Given the description of an element on the screen output the (x, y) to click on. 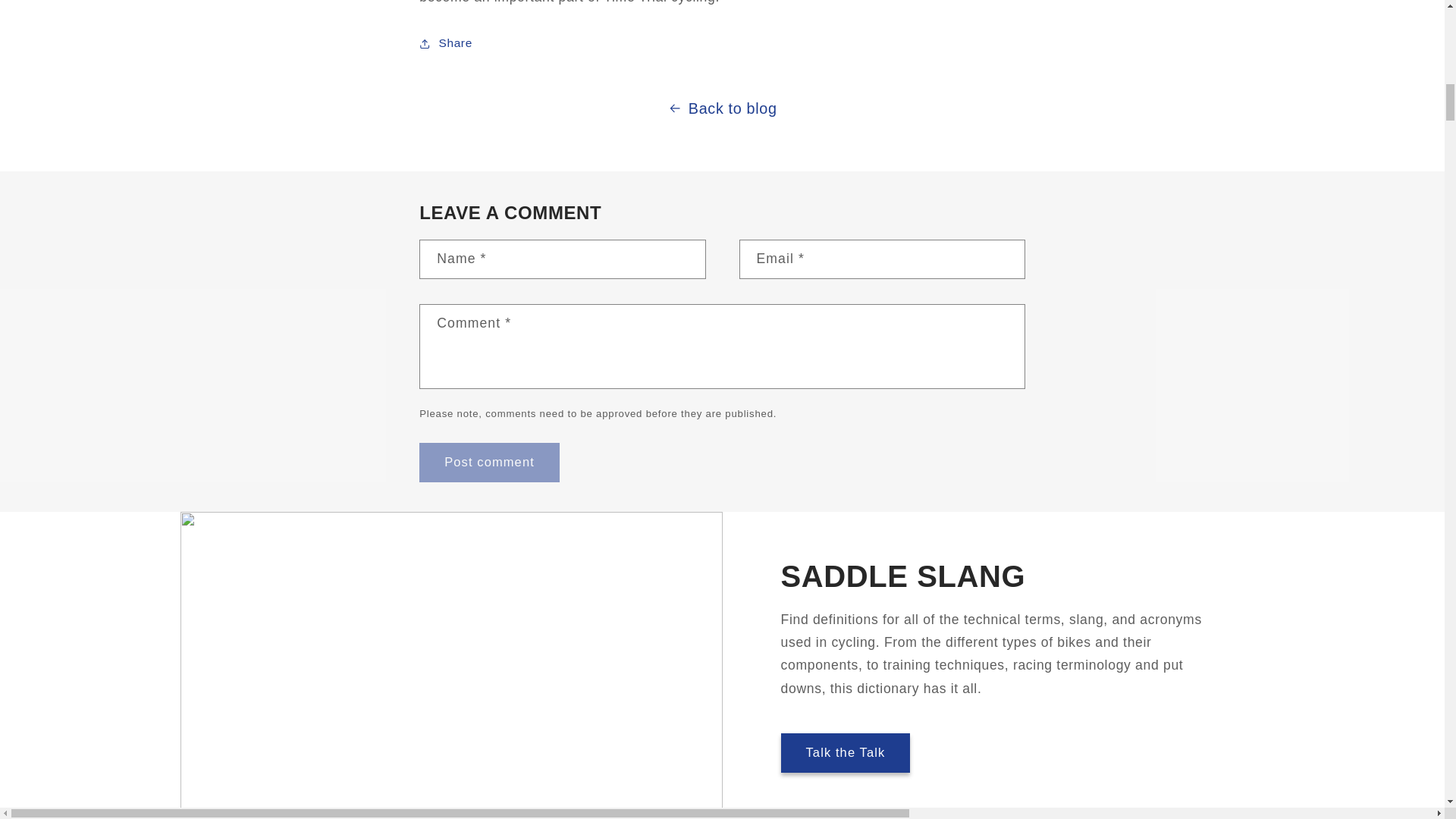
Back to blog (722, 108)
Post comment (489, 462)
Post comment (489, 462)
Talk the Talk (845, 753)
